Given the description of an element on the screen output the (x, y) to click on. 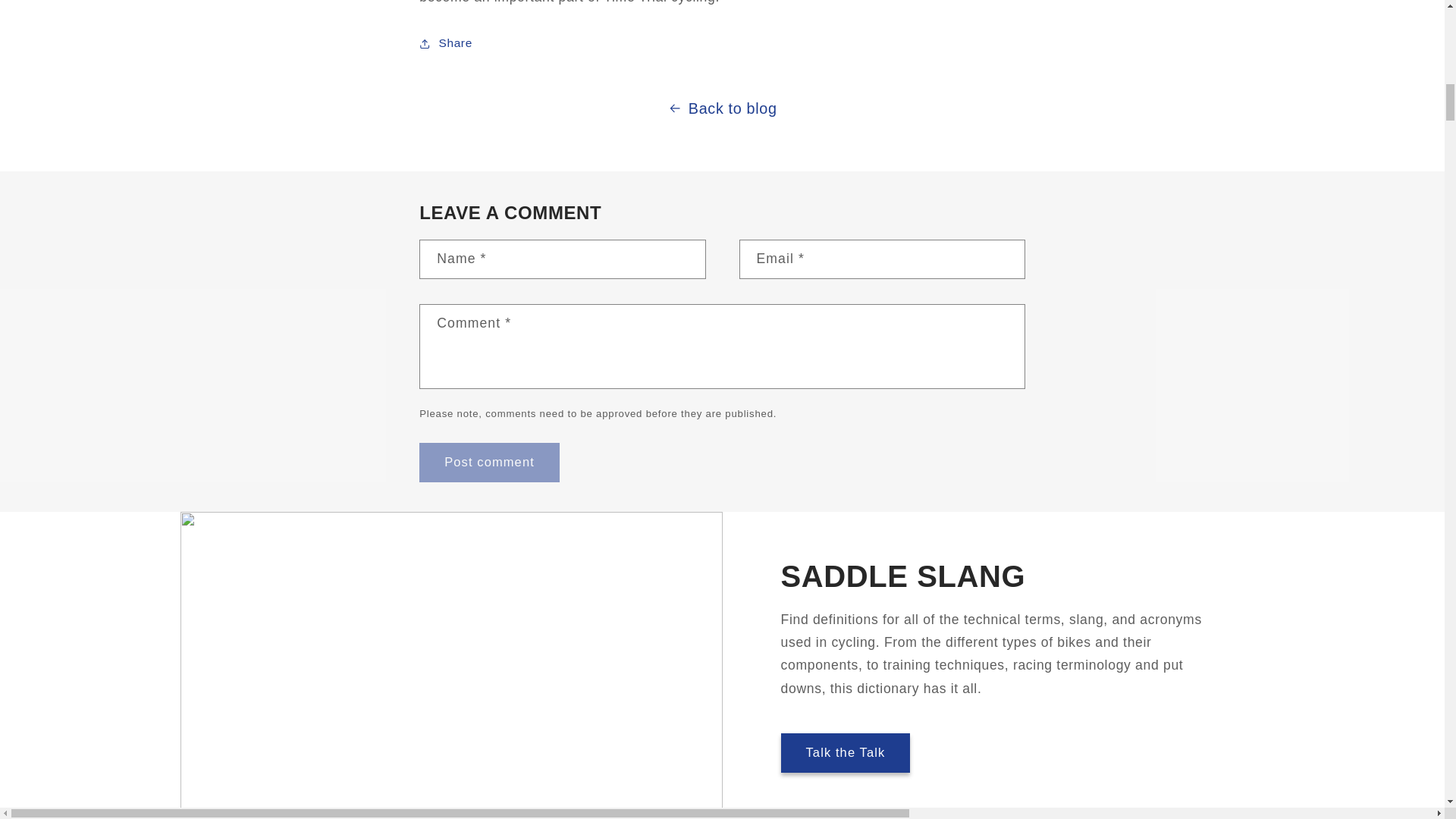
Back to blog (722, 108)
Post comment (489, 462)
Post comment (489, 462)
Talk the Talk (845, 753)
